Given the description of an element on the screen output the (x, y) to click on. 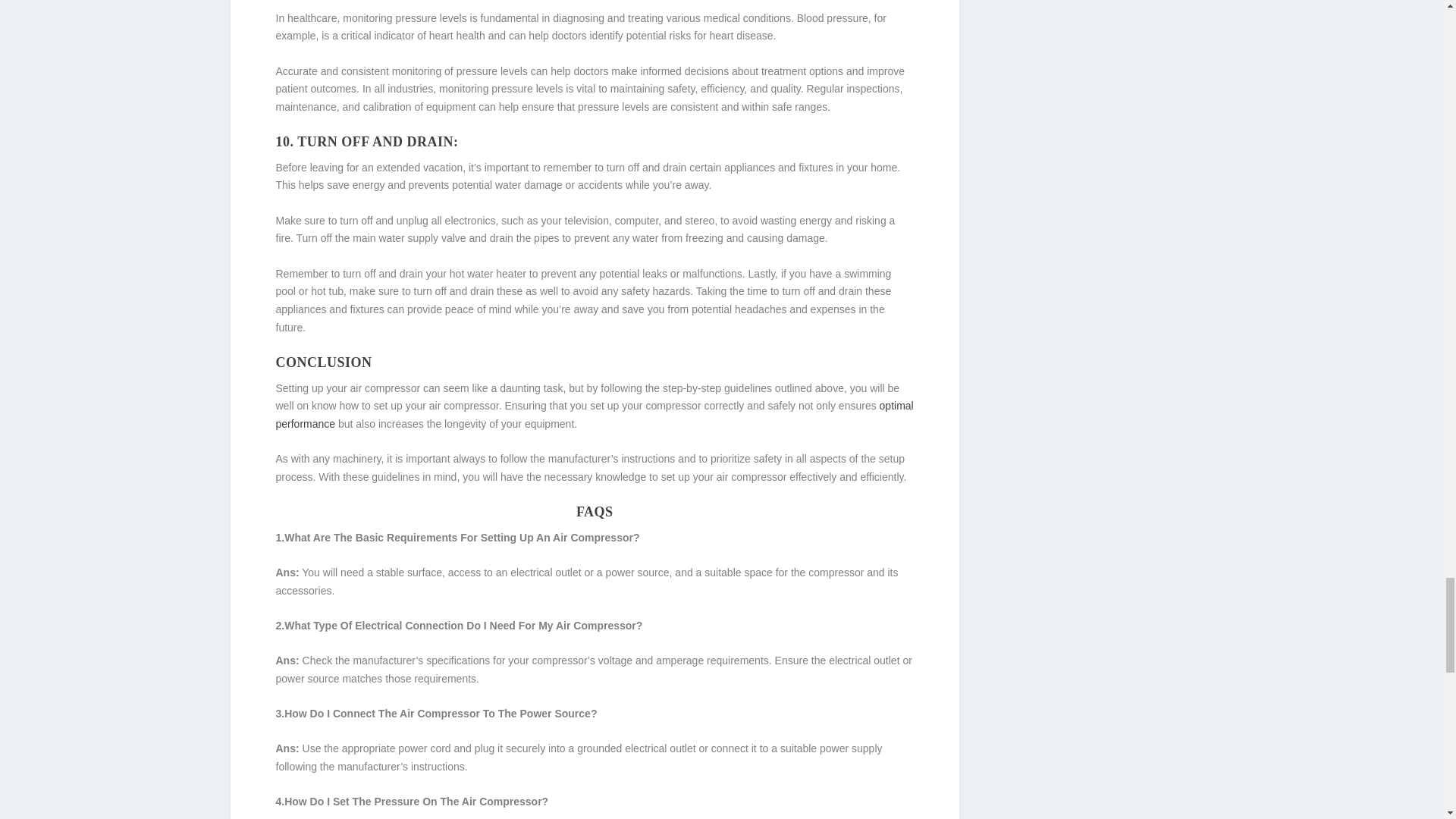
optimal performance (595, 414)
